Given the description of an element on the screen output the (x, y) to click on. 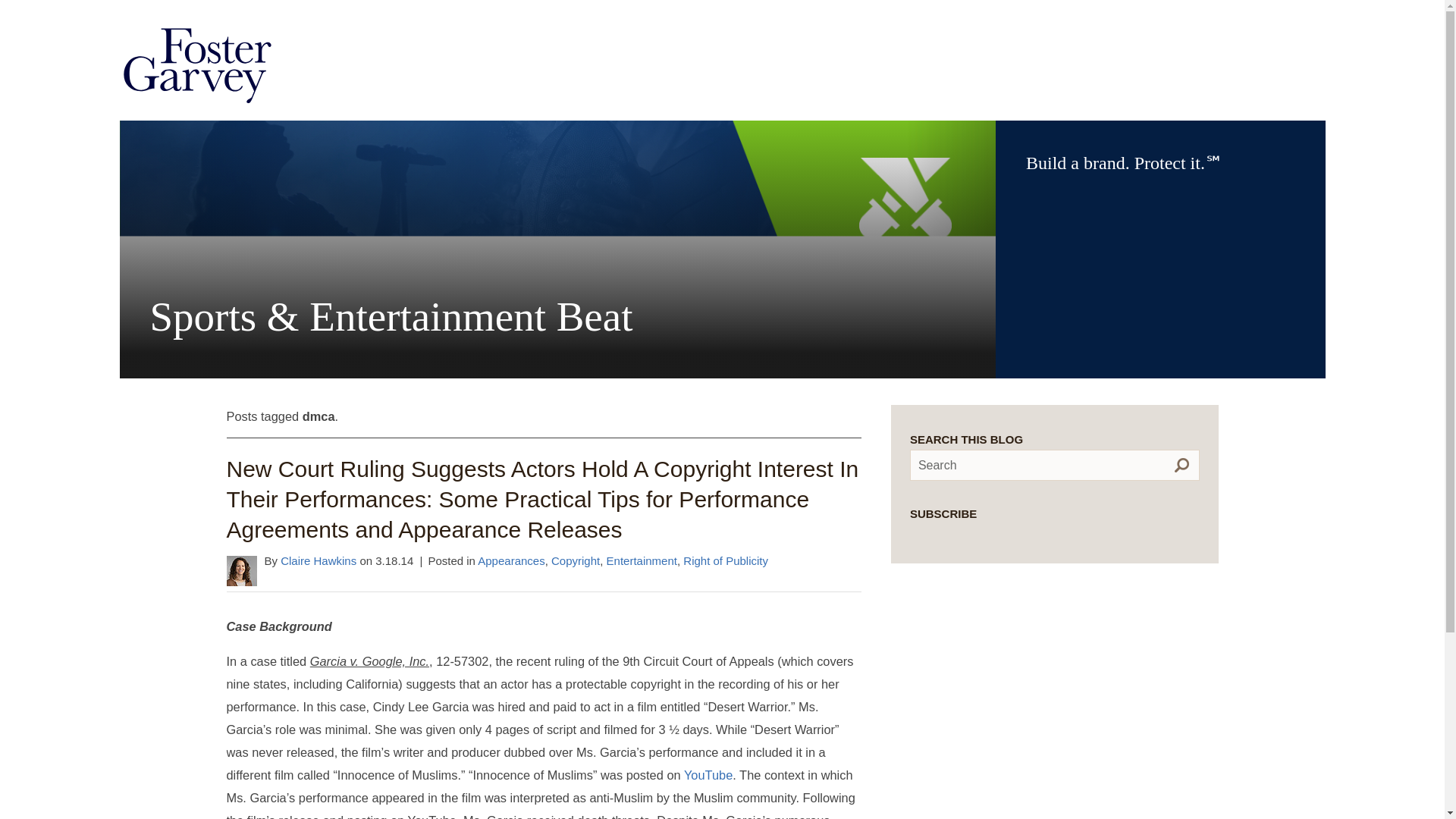
Appearances (510, 560)
Claire Hawkins (318, 560)
YouTube (708, 775)
Entertainment (642, 560)
YouTube (708, 775)
Copyright (575, 560)
Right of Publicity (725, 560)
